Given the description of an element on the screen output the (x, y) to click on. 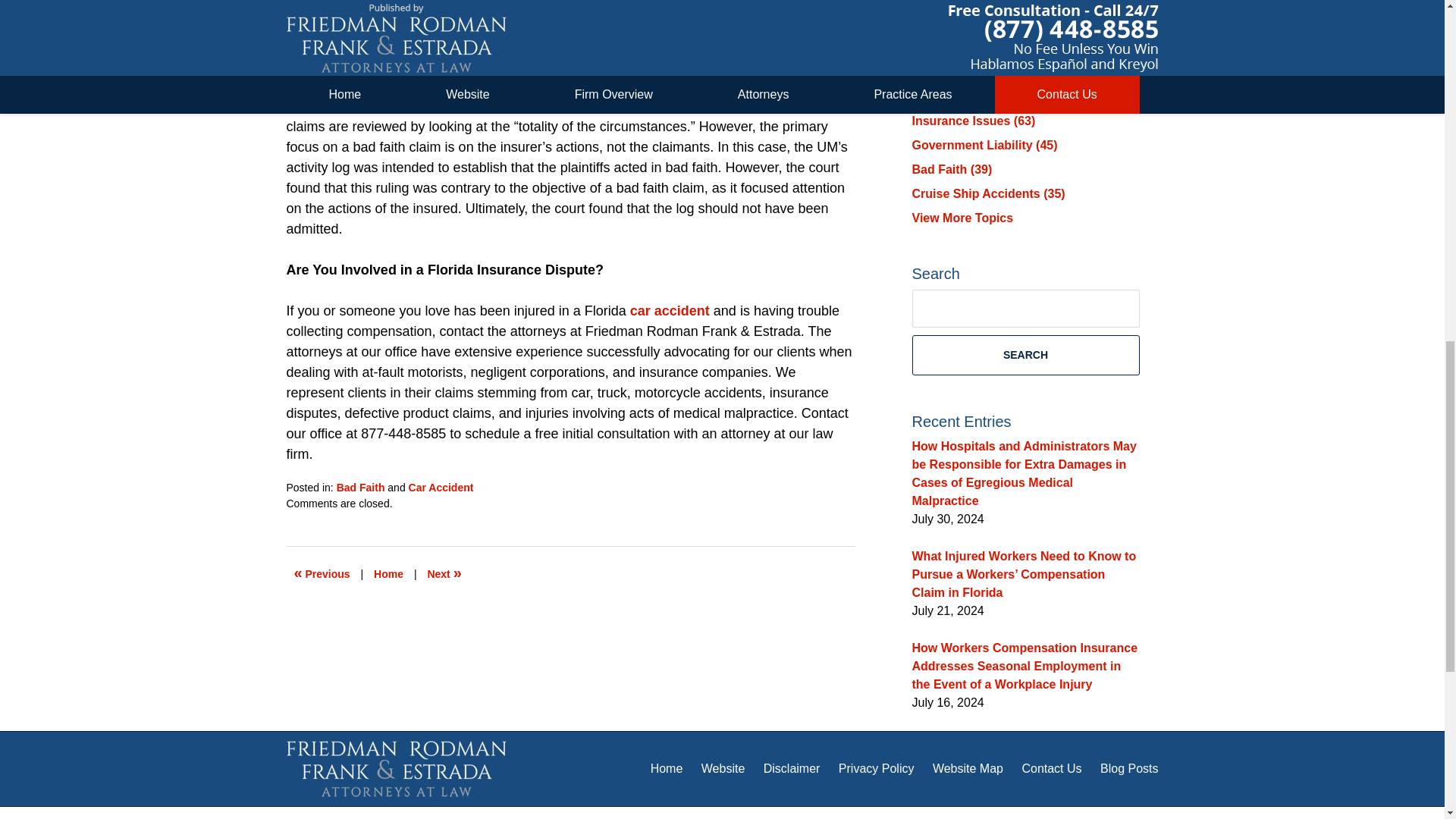
View all posts in Bad Faith (360, 487)
Bad Faith (360, 487)
Home (388, 574)
Car Accident (441, 487)
View all posts in Car Accident (441, 487)
car accident (670, 310)
